Given the description of an element on the screen output the (x, y) to click on. 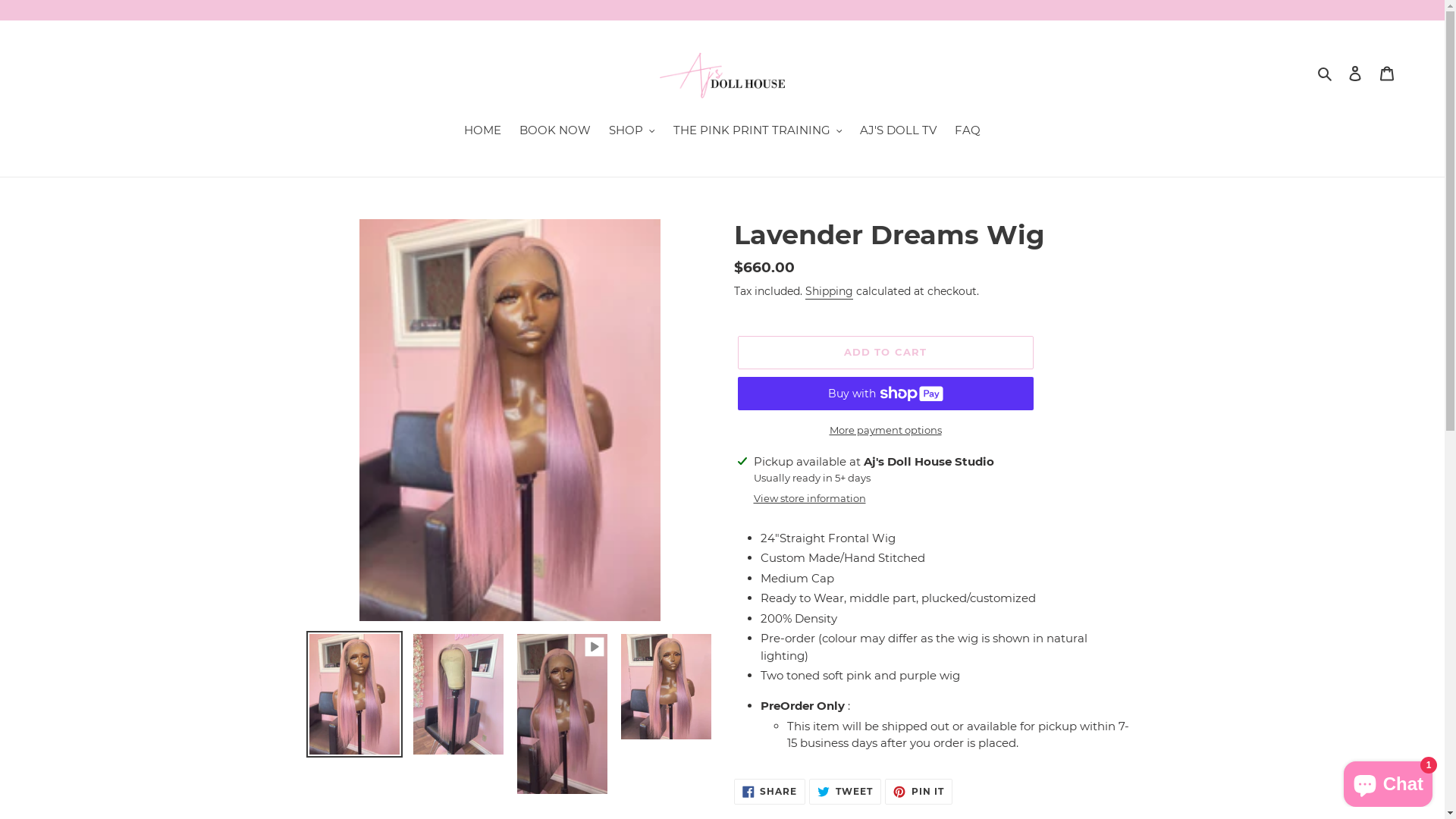
Cart Element type: text (1386, 72)
THE PINK PRINT TRAINING Element type: text (757, 131)
SHOP Element type: text (631, 131)
HOME Element type: text (482, 131)
Shopify online store chat Element type: hover (1388, 780)
SHARE
SHARE ON FACEBOOK Element type: text (770, 791)
PIN IT
PIN ON PINTEREST Element type: text (918, 791)
Search Element type: text (1325, 72)
AJ'S DOLL TV Element type: text (898, 131)
View store information Element type: text (809, 498)
FAQ Element type: text (967, 131)
Log in Element type: text (1355, 72)
BOOK NOW Element type: text (554, 131)
ADD TO CART Element type: text (884, 352)
Shipping Element type: text (829, 291)
More payment options Element type: text (884, 430)
TWEET
TWEET ON TWITTER Element type: text (845, 791)
